Given the description of an element on the screen output the (x, y) to click on. 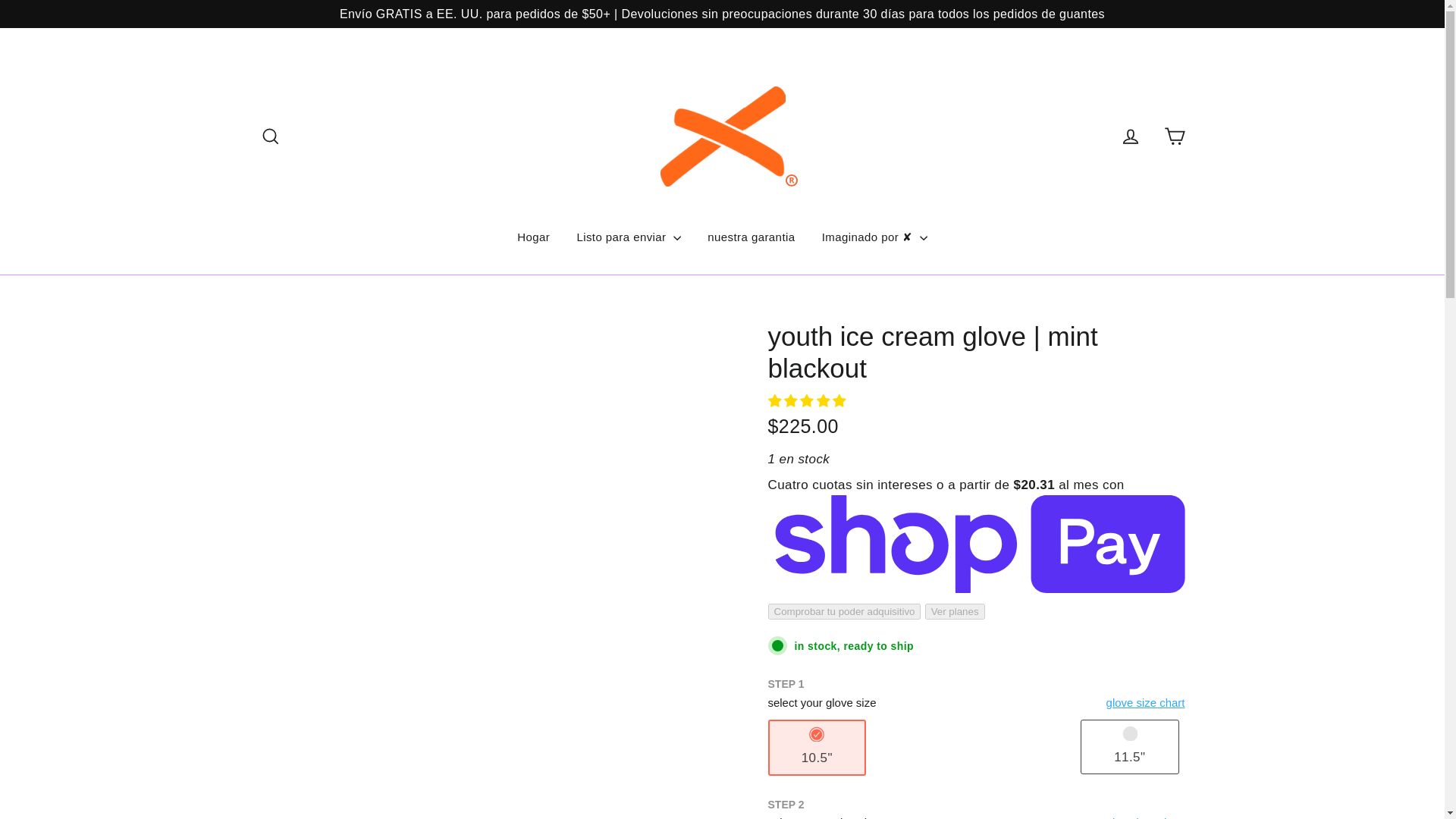
Buscar (269, 135)
Ingresar (1130, 135)
Listo para enviar (628, 236)
Hogar (532, 236)
Carrito (1173, 135)
